Given the description of an element on the screen output the (x, y) to click on. 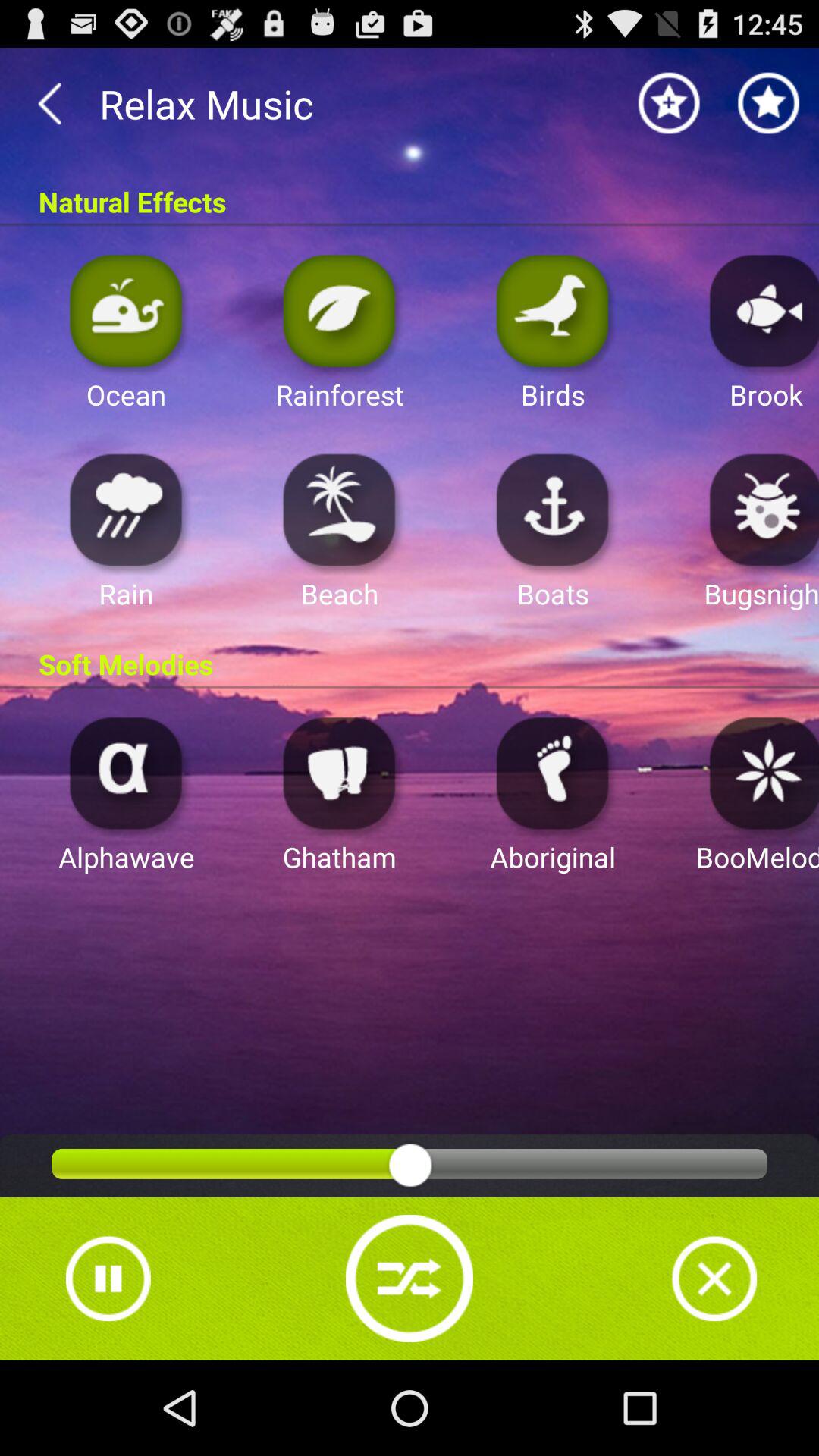
select the alphawave (126, 772)
